Given the description of an element on the screen output the (x, y) to click on. 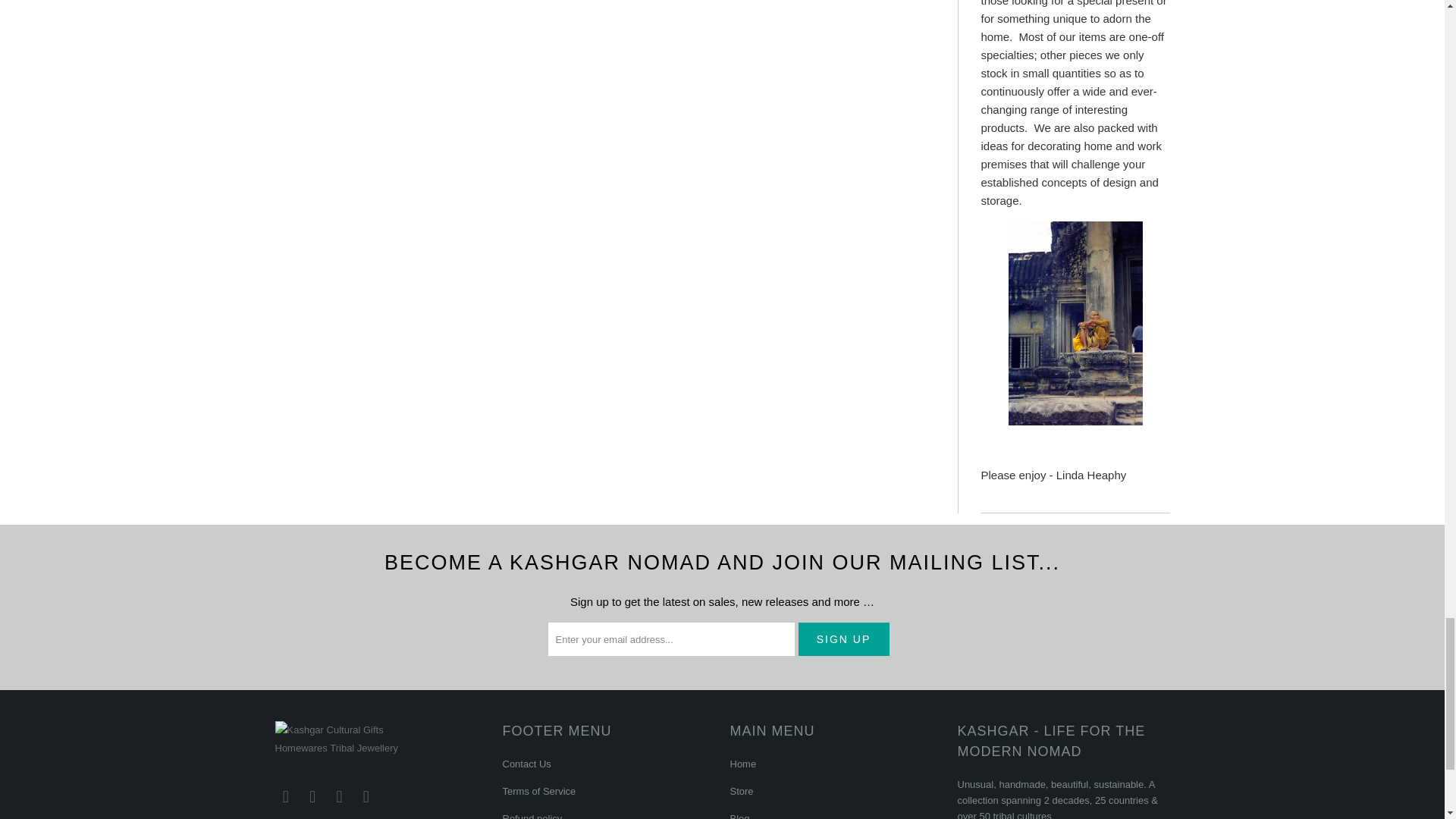
Sign Up (842, 639)
